Given the description of an element on the screen output the (x, y) to click on. 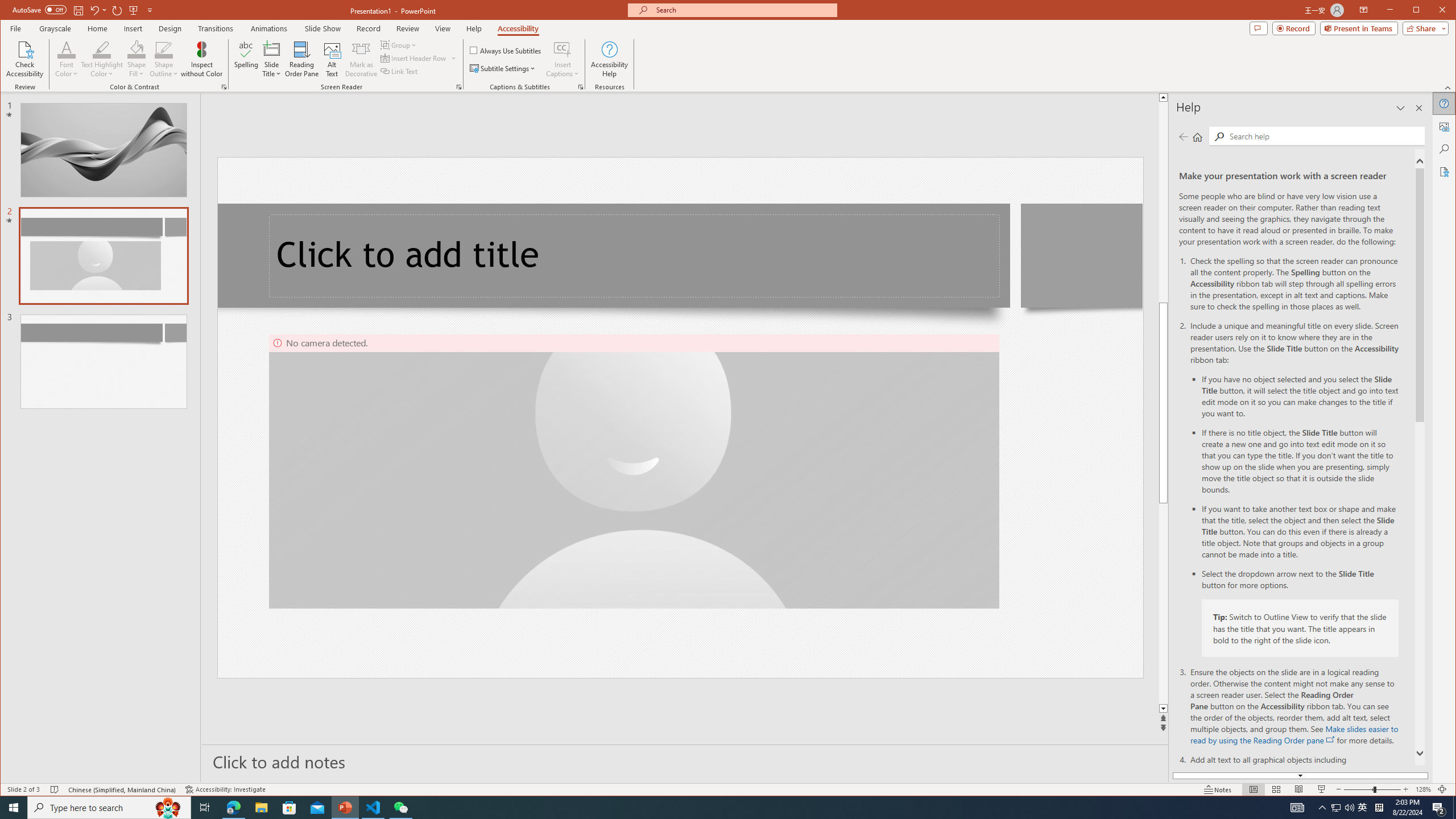
Action Center, 2 new notifications (1439, 807)
Grayscale (55, 28)
Group (399, 44)
